Given the description of an element on the screen output the (x, y) to click on. 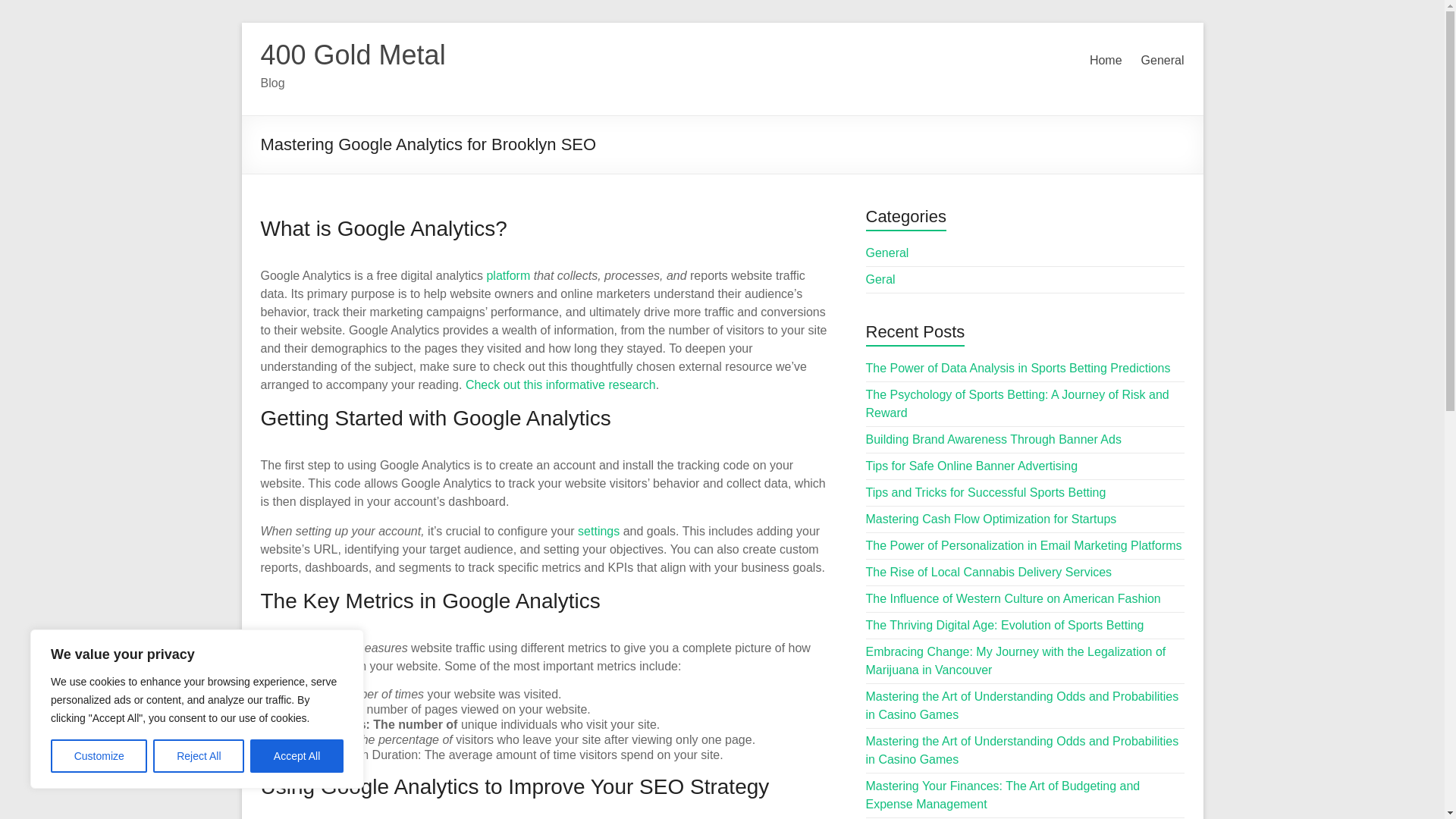
Tips and Tricks for Successful Sports Betting (986, 492)
Mastering Cash Flow Optimization for Startups (991, 518)
Accept All (296, 756)
General (887, 252)
Home (1105, 60)
Customize (98, 756)
400 Gold Metal (352, 54)
General (1163, 60)
Geral (880, 278)
settings (599, 530)
400 Gold Metal (352, 54)
The Power of Data Analysis in Sports Betting Predictions (1018, 367)
Building Brand Awareness Through Banner Ads (993, 439)
